Given the description of an element on the screen output the (x, y) to click on. 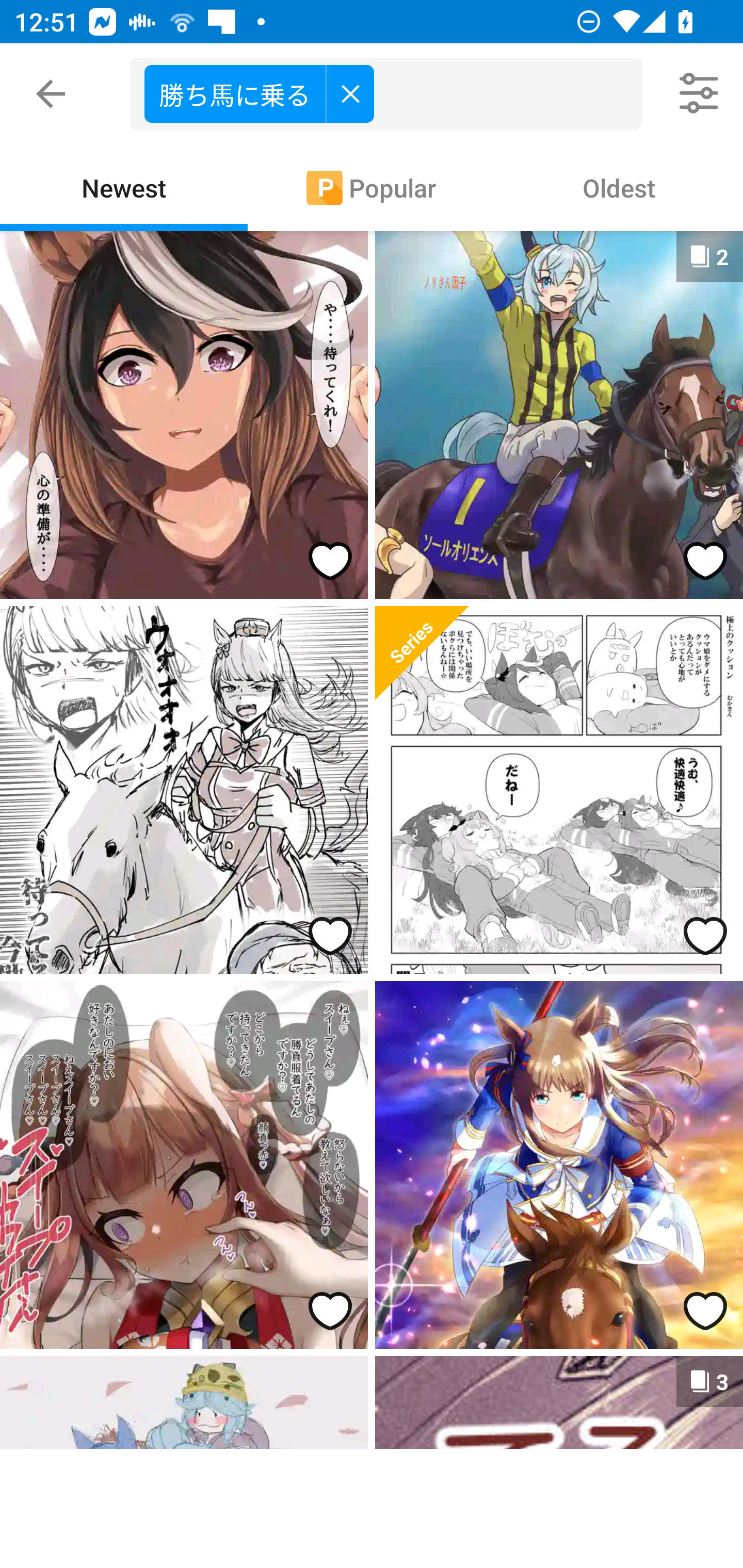
Navigate up (50, 93)
Filters (699, 93)
勝ち馬に乗る (258, 93)
[P] Popular (371, 187)
Oldest (619, 187)
2 (559, 414)
Series (559, 789)
Series (421, 652)
